Given the description of an element on the screen output the (x, y) to click on. 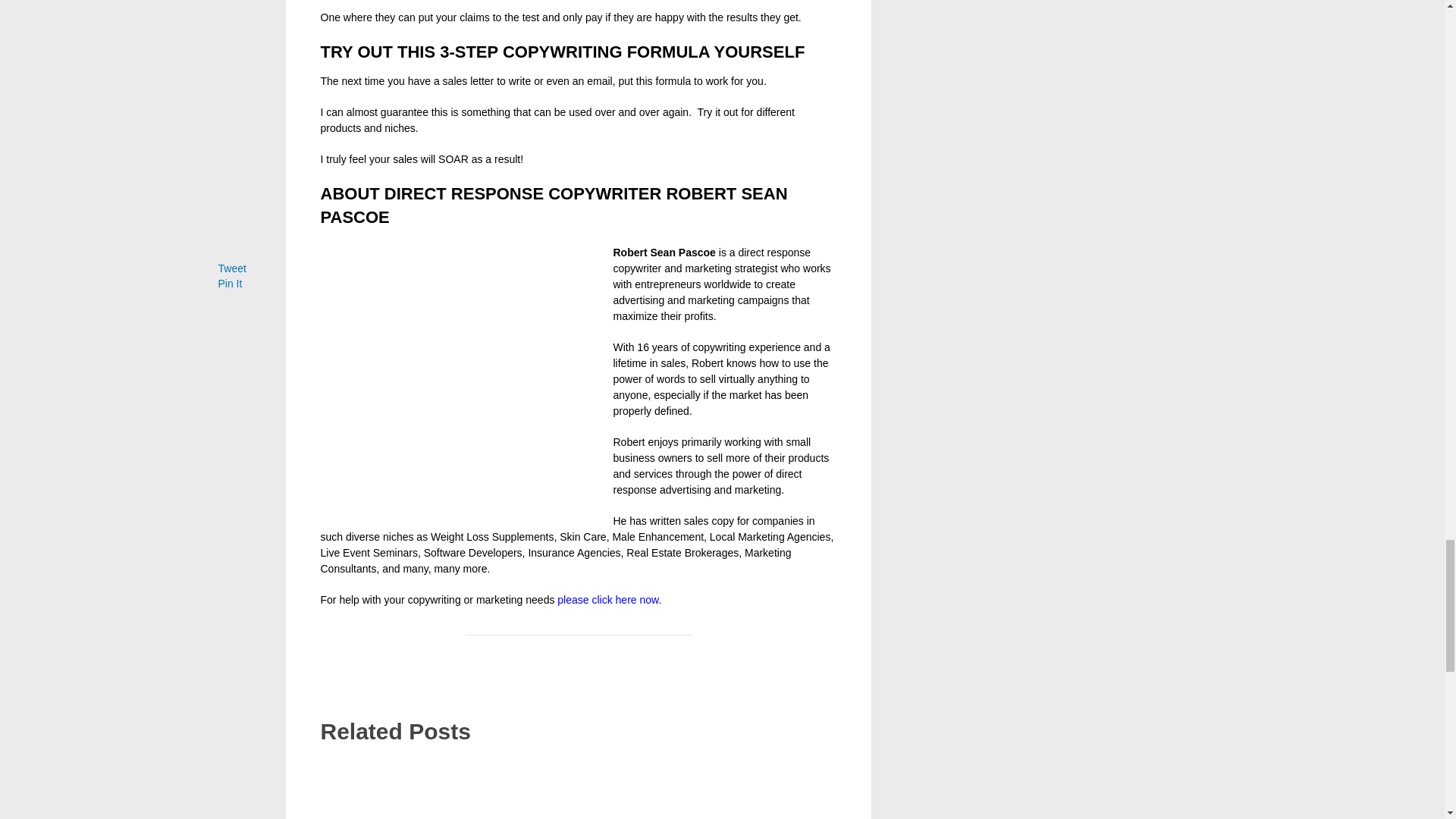
3 Powerful Copywriting Formulas to Supercharge Your Sales (577, 787)
Indiana Jones and Adventures in Entrepreneurship (756, 787)
please click here now (607, 599)
